Given the description of an element on the screen output the (x, y) to click on. 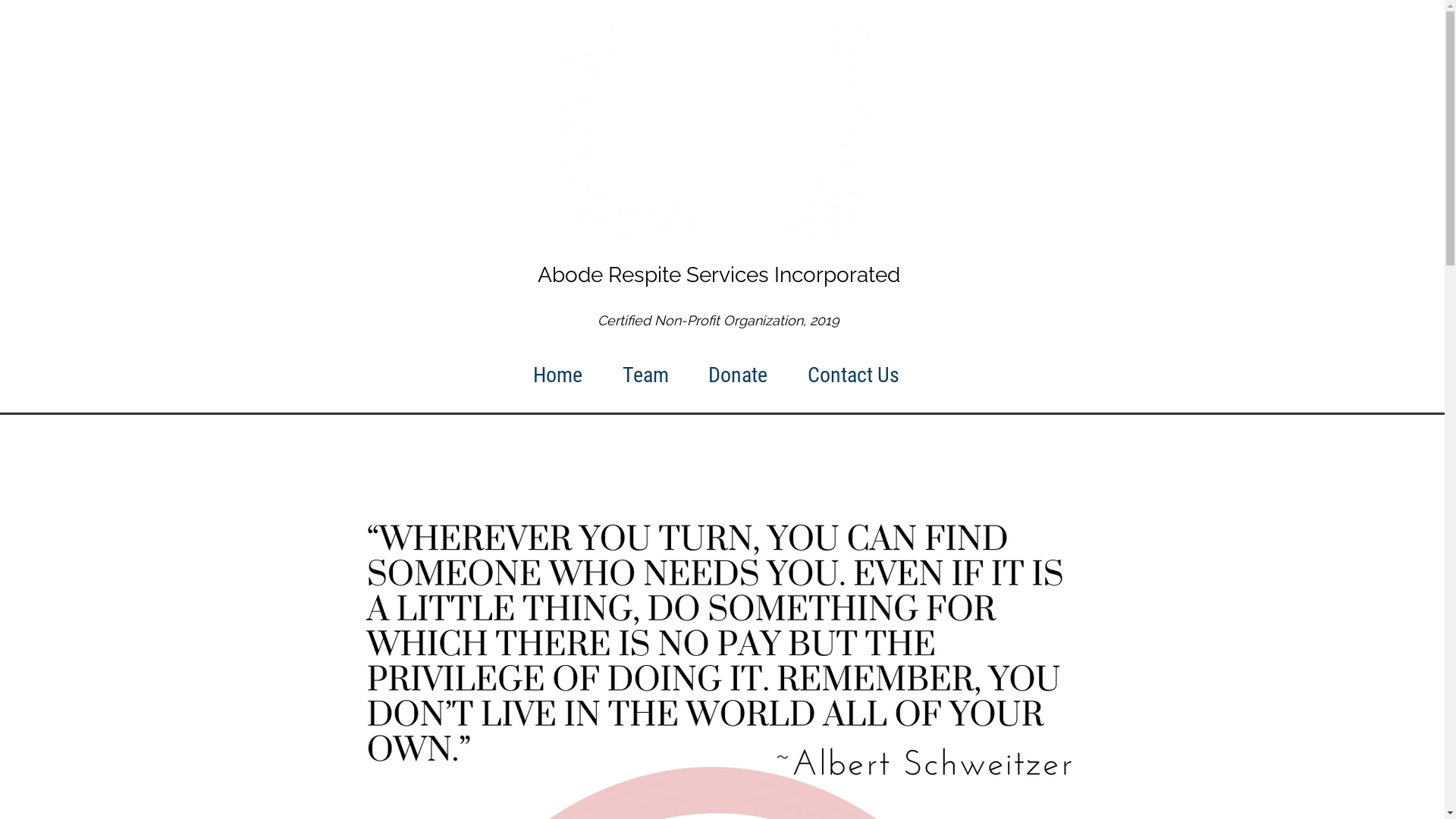
Donate Element type: text (737, 374)
Contact Us Element type: text (853, 374)
Home Element type: text (557, 374)
Team Element type: text (645, 374)
